Given the description of an element on the screen output the (x, y) to click on. 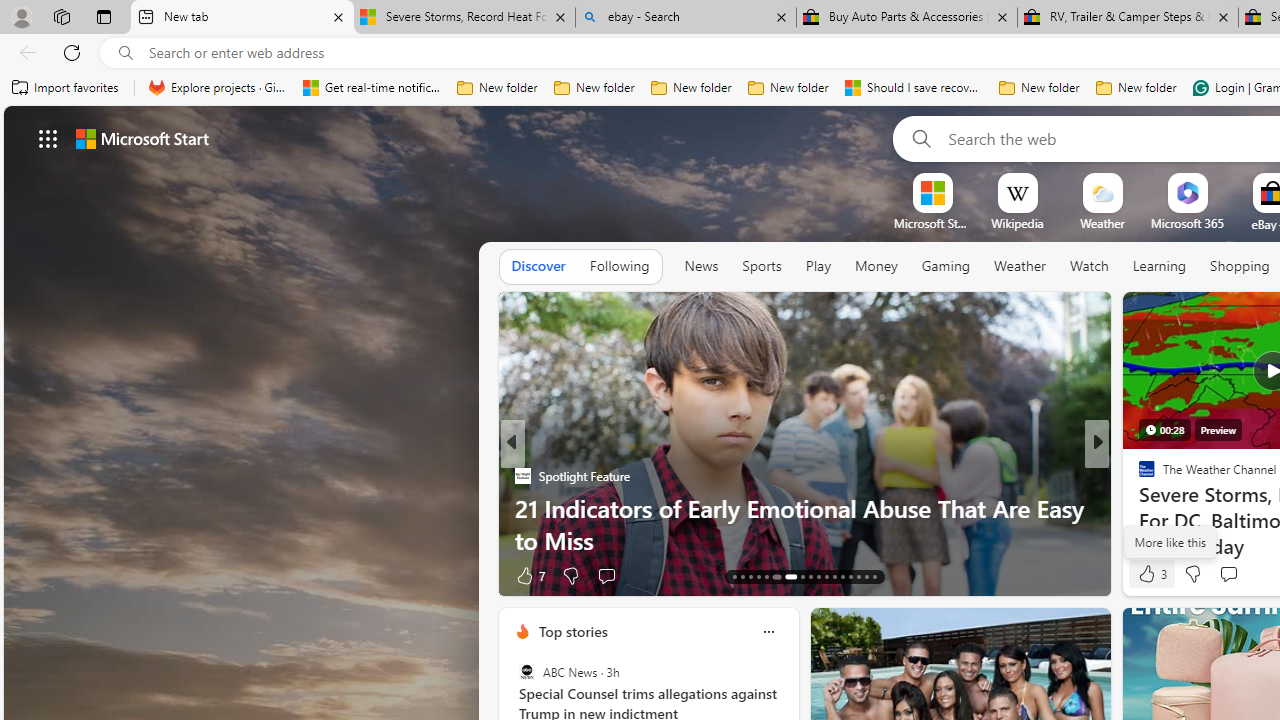
Top stories (572, 631)
AutomationID: tab-26 (850, 576)
AutomationID: tab-25 (842, 576)
21 Indicators of Early Emotional Abuse That Are Easy to Miss (804, 523)
7 Like (528, 574)
